Given the description of an element on the screen output the (x, y) to click on. 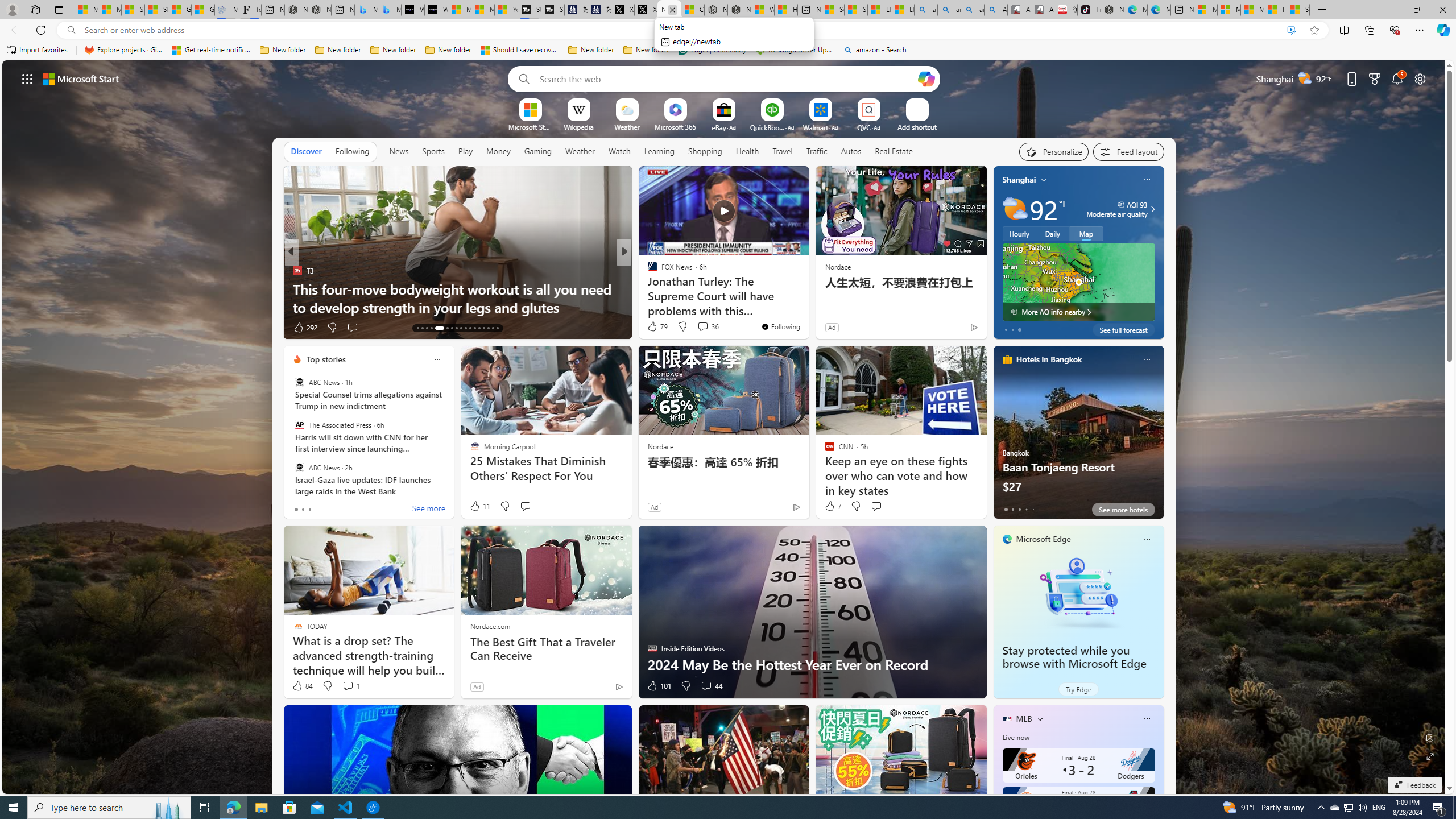
Enter your search term (726, 78)
The Associated Press (299, 424)
App bar (728, 29)
New folder (646, 49)
Microsoft Start Sports (459, 9)
Play (465, 151)
439 Like (654, 327)
Watch (619, 151)
Microsoft Start Sports (529, 126)
Restore (1416, 9)
Search (520, 78)
All Cubot phones (1042, 9)
